Given the description of an element on the screen output the (x, y) to click on. 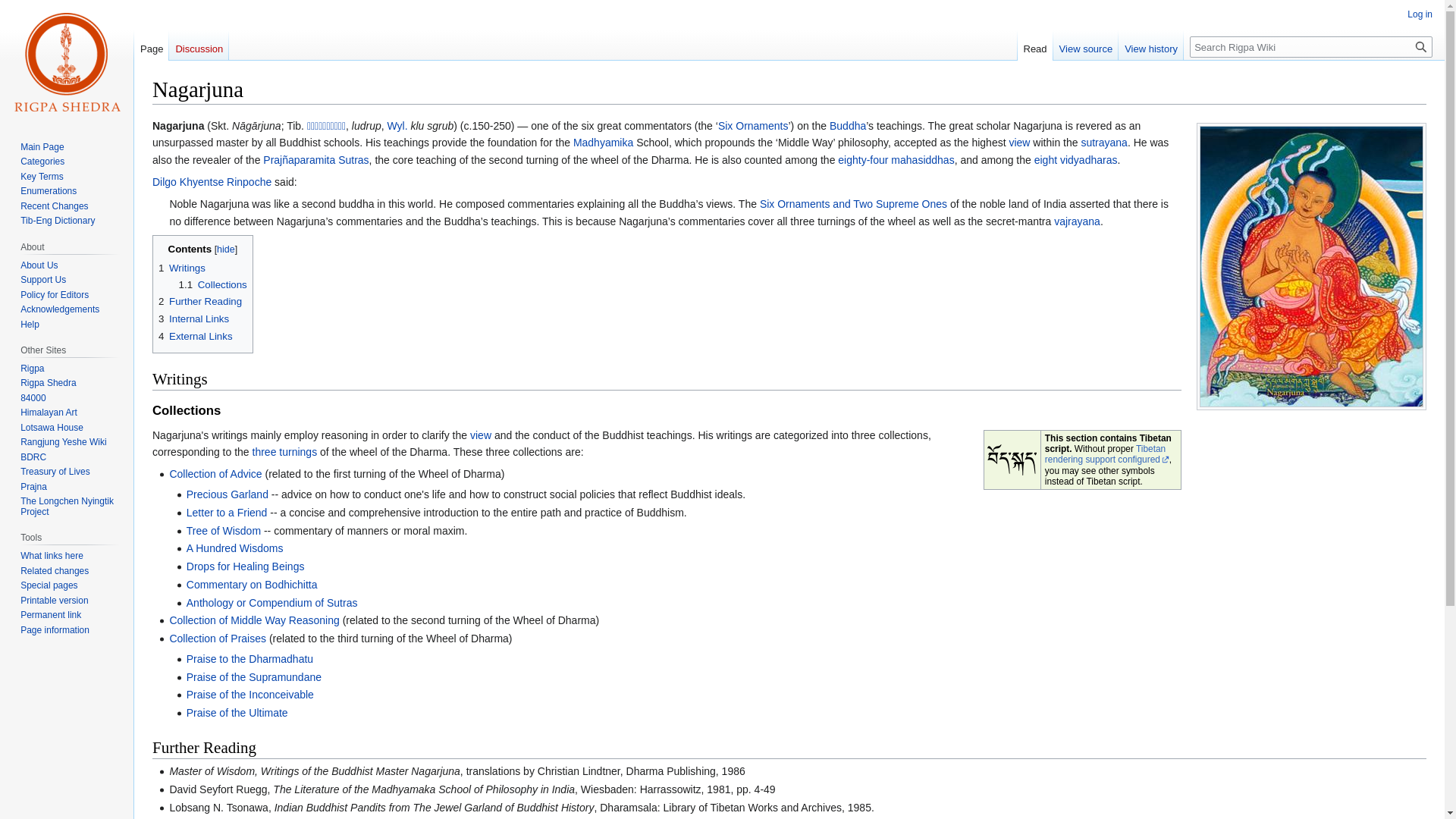
1.1 Collections (213, 284)
Anthology or Compendium of Sutras (272, 603)
Sutrayana (1103, 142)
Praise of the Inconceivable (250, 694)
Search (1420, 46)
Eighty-four mahasiddhas (895, 159)
Letter to a Friend (226, 512)
Collection of Praises (217, 638)
Collection of Advice (215, 473)
